Given the description of an element on the screen output the (x, y) to click on. 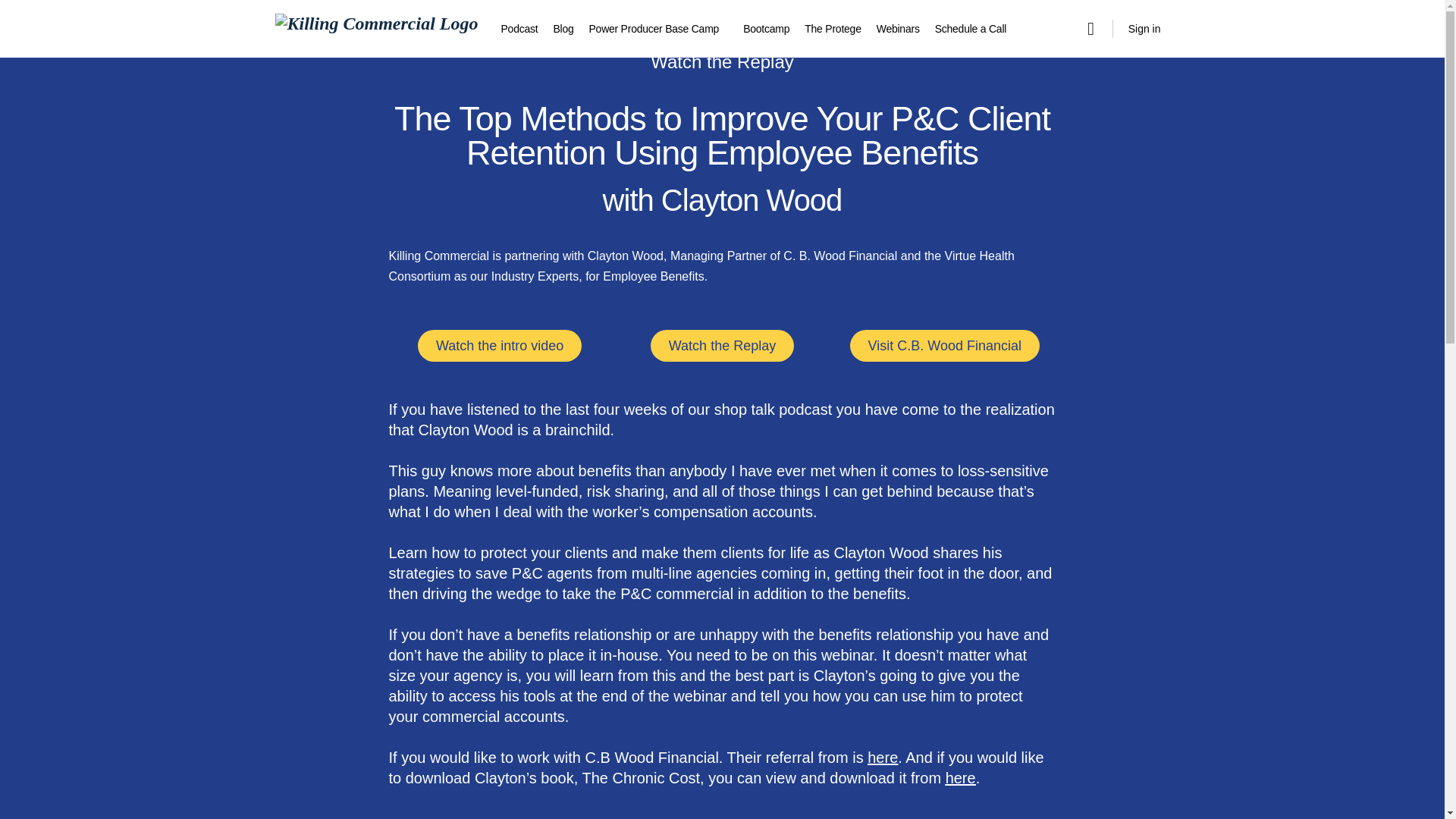
Watch the intro video (498, 345)
Power Producer Base Camp (653, 28)
Schedule a Call (970, 28)
The Protege (832, 28)
Visit C.B. Wood Financial (944, 345)
here (959, 777)
Watch the Replay (721, 345)
here (882, 757)
Sign in (1144, 28)
